Given the description of an element on the screen output the (x, y) to click on. 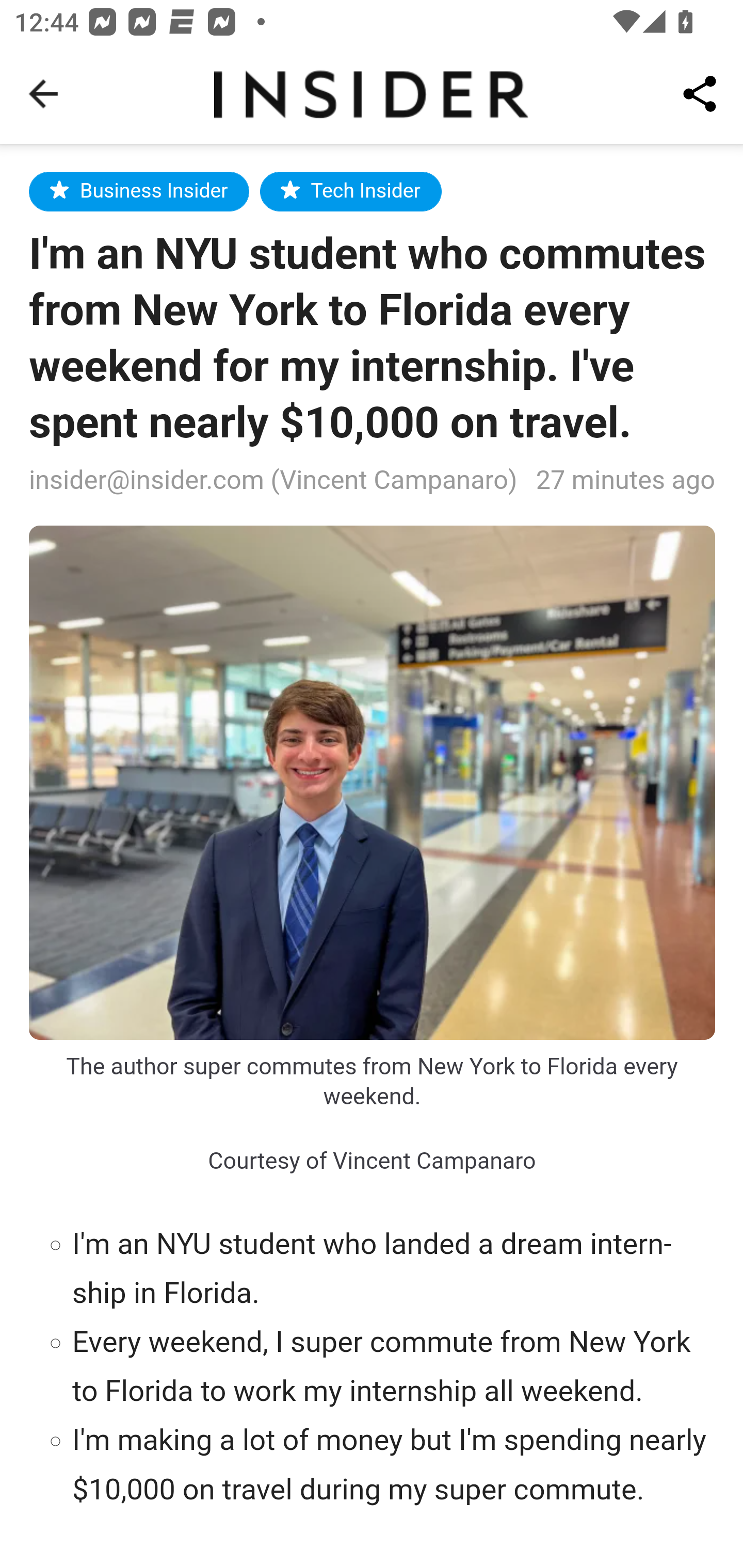
Business Insider (138, 191)
Tech Insider (349, 191)
?url=https%3A%2F%2Fi.insider (372, 782)
